Given the description of an element on the screen output the (x, y) to click on. 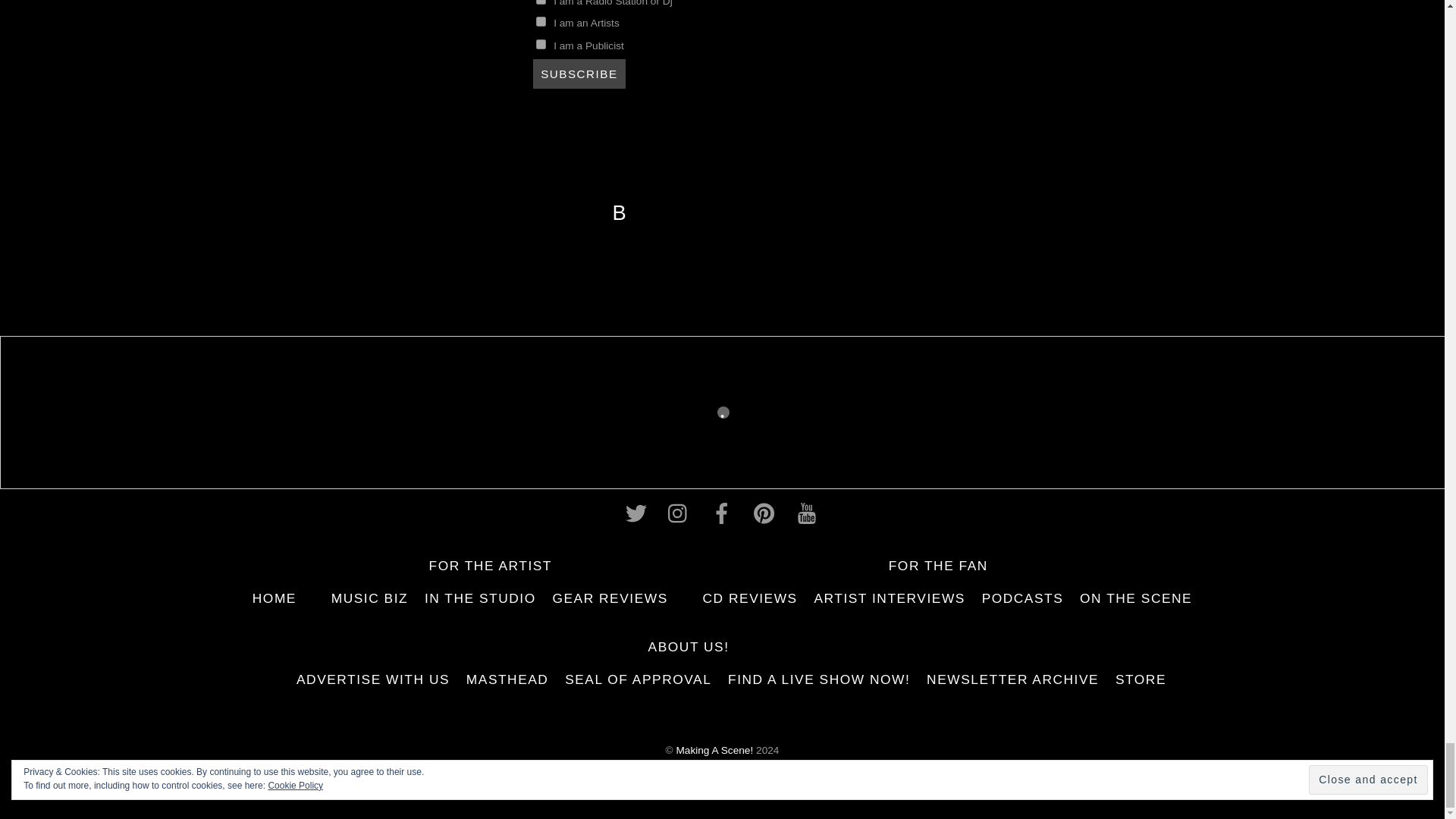
9 (539, 21)
Subscribe (579, 72)
10 (539, 44)
3 (539, 2)
